Given the description of an element on the screen output the (x, y) to click on. 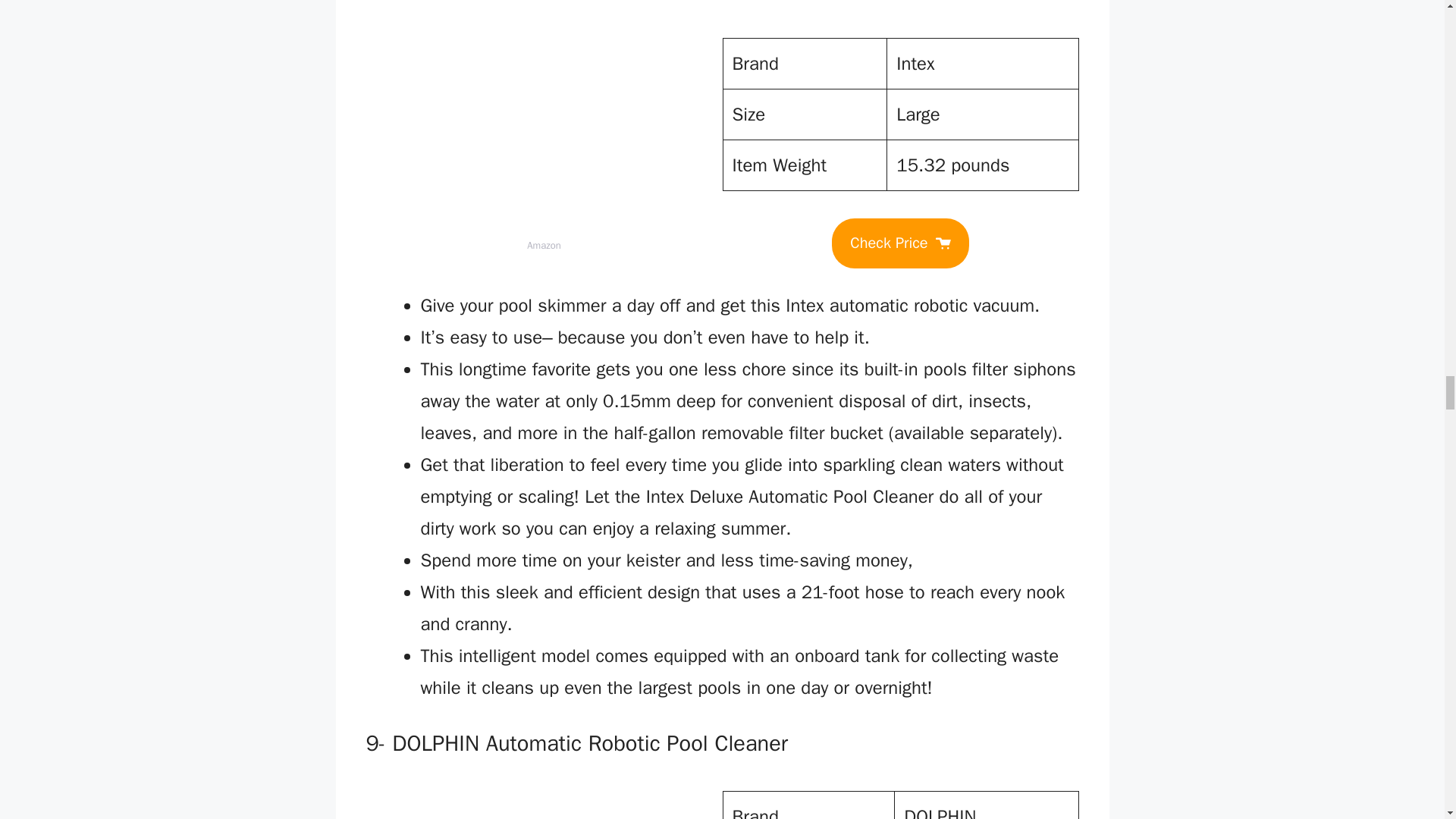
Check Price (899, 243)
